Given the description of an element on the screen output the (x, y) to click on. 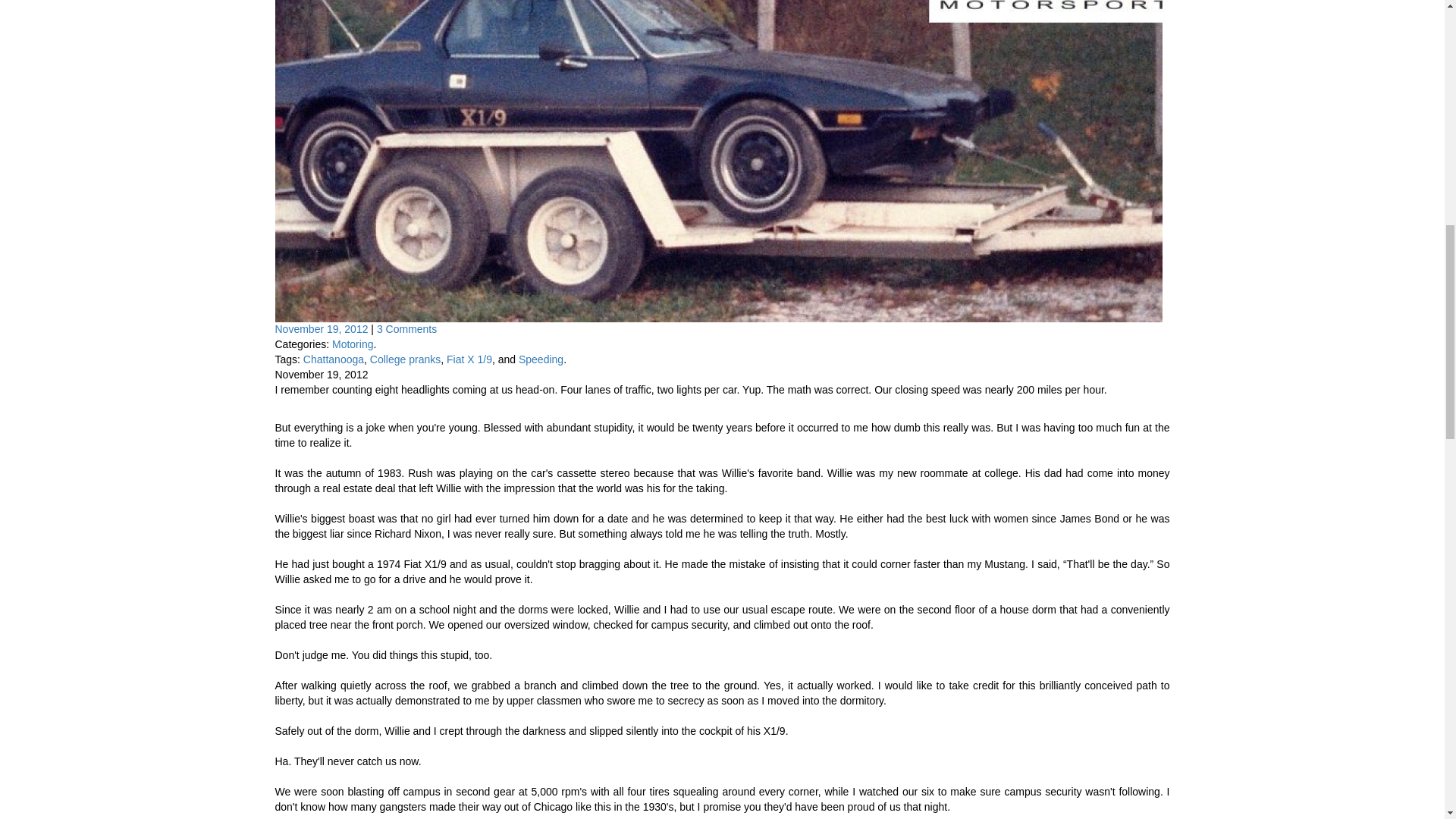
November 19, 2012 (323, 328)
Motoring (351, 344)
College pranks (405, 358)
Speeding (540, 358)
Chattanooga (333, 358)
3 Comments (406, 328)
